Given the description of an element on the screen output the (x, y) to click on. 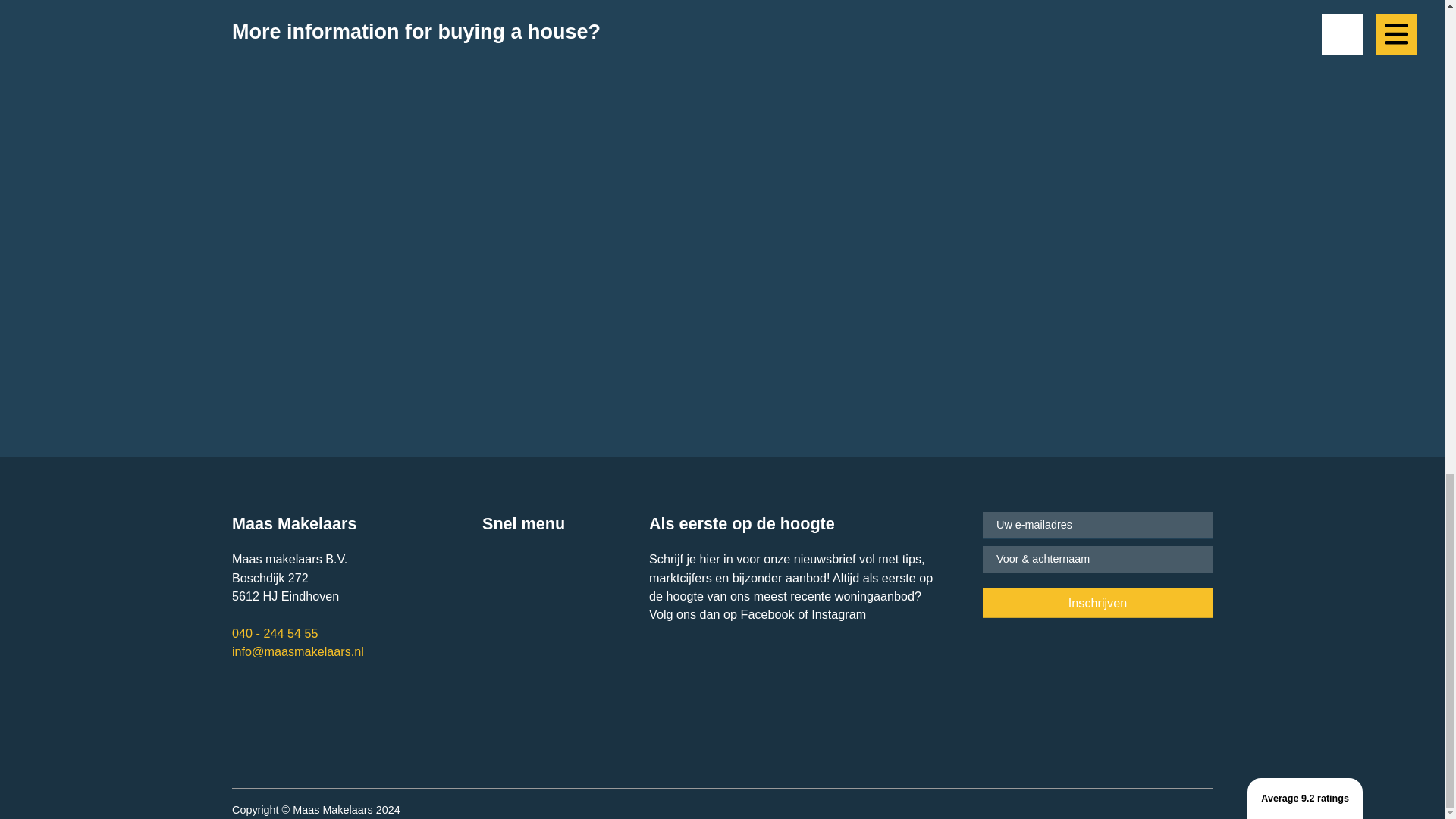
Inschrijven (1097, 603)
040 - 244 54 55 (274, 632)
Inschrijven (1097, 603)
